Given the description of an element on the screen output the (x, y) to click on. 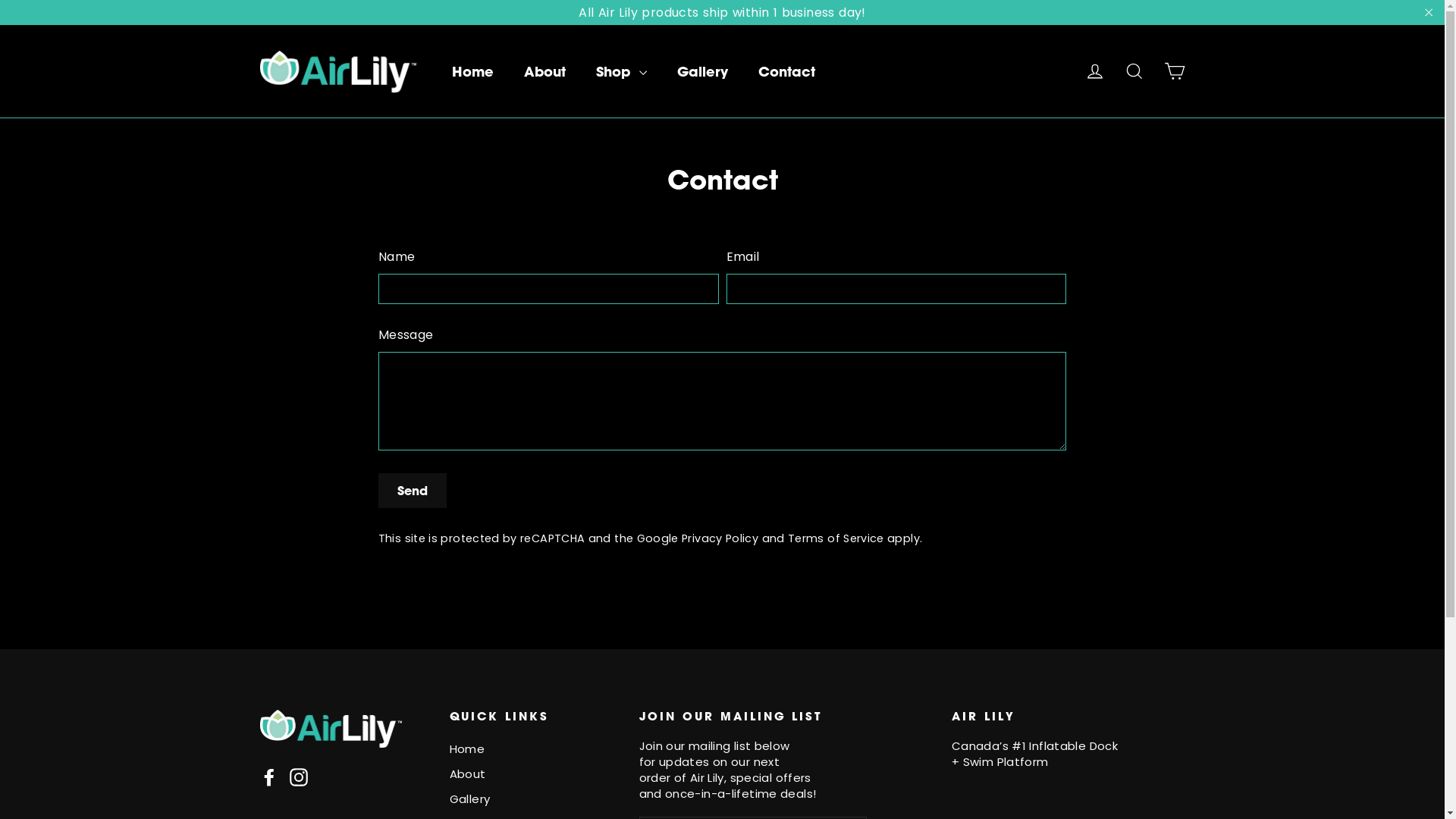
Gallery Element type: text (702, 71)
About Element type: text (544, 71)
Send Element type: text (412, 490)
Contact Element type: text (786, 71)
"Close" Element type: text (1428, 12)
Terms of Service Element type: text (835, 538)
Shop Element type: text (621, 71)
Skip to content Element type: text (0, 0)
Privacy Policy Element type: text (719, 538)
Search Element type: text (1134, 71)
Facebook Element type: text (268, 777)
About Element type: text (531, 774)
Gallery Element type: text (531, 799)
Home Element type: text (472, 71)
Instagram Element type: text (298, 777)
Cart Element type: text (1173, 71)
Log in Element type: text (1094, 71)
Home Element type: text (531, 749)
